Given the description of an element on the screen output the (x, y) to click on. 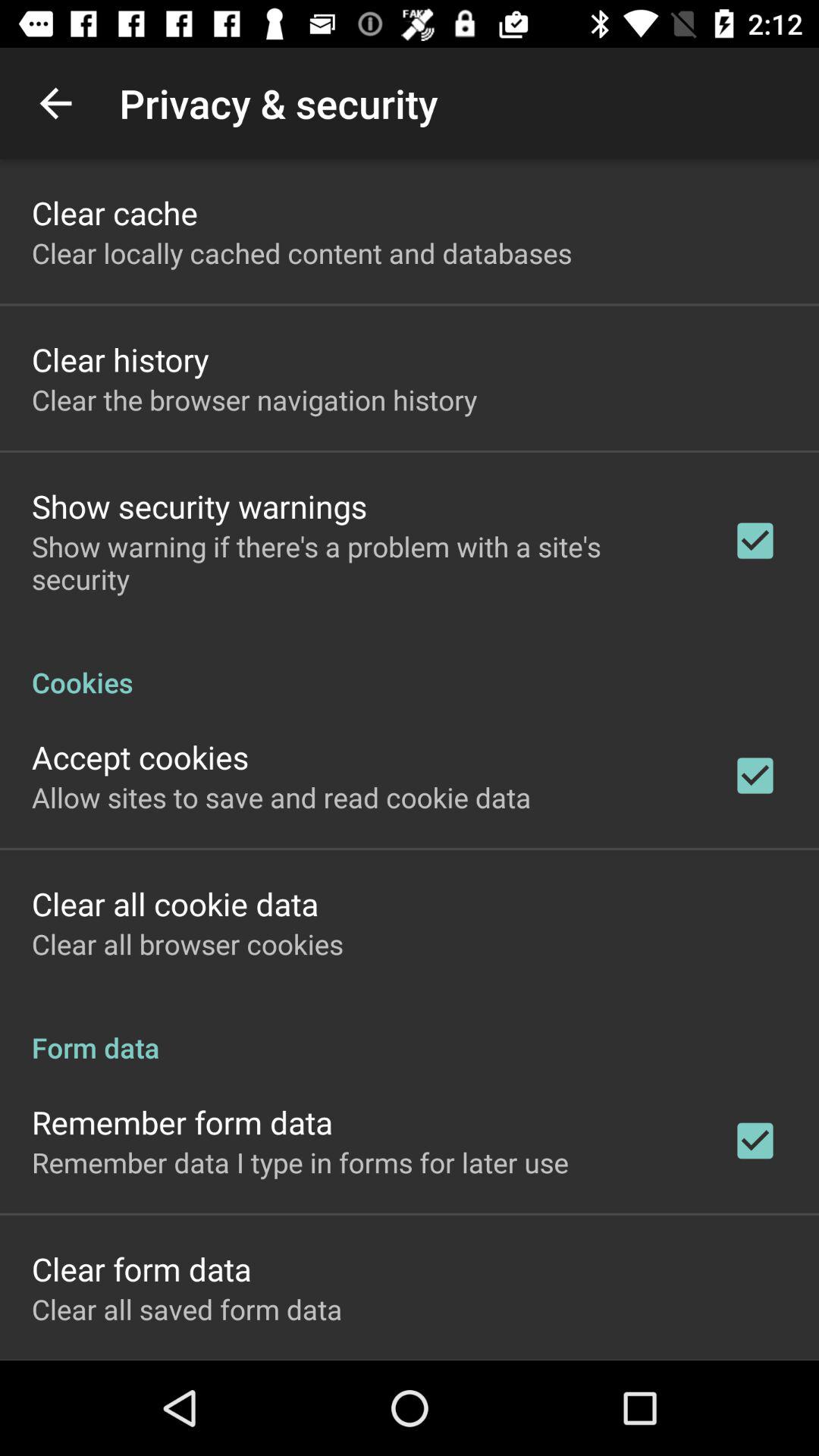
select the allow sites to item (281, 797)
